Given the description of an element on the screen output the (x, y) to click on. 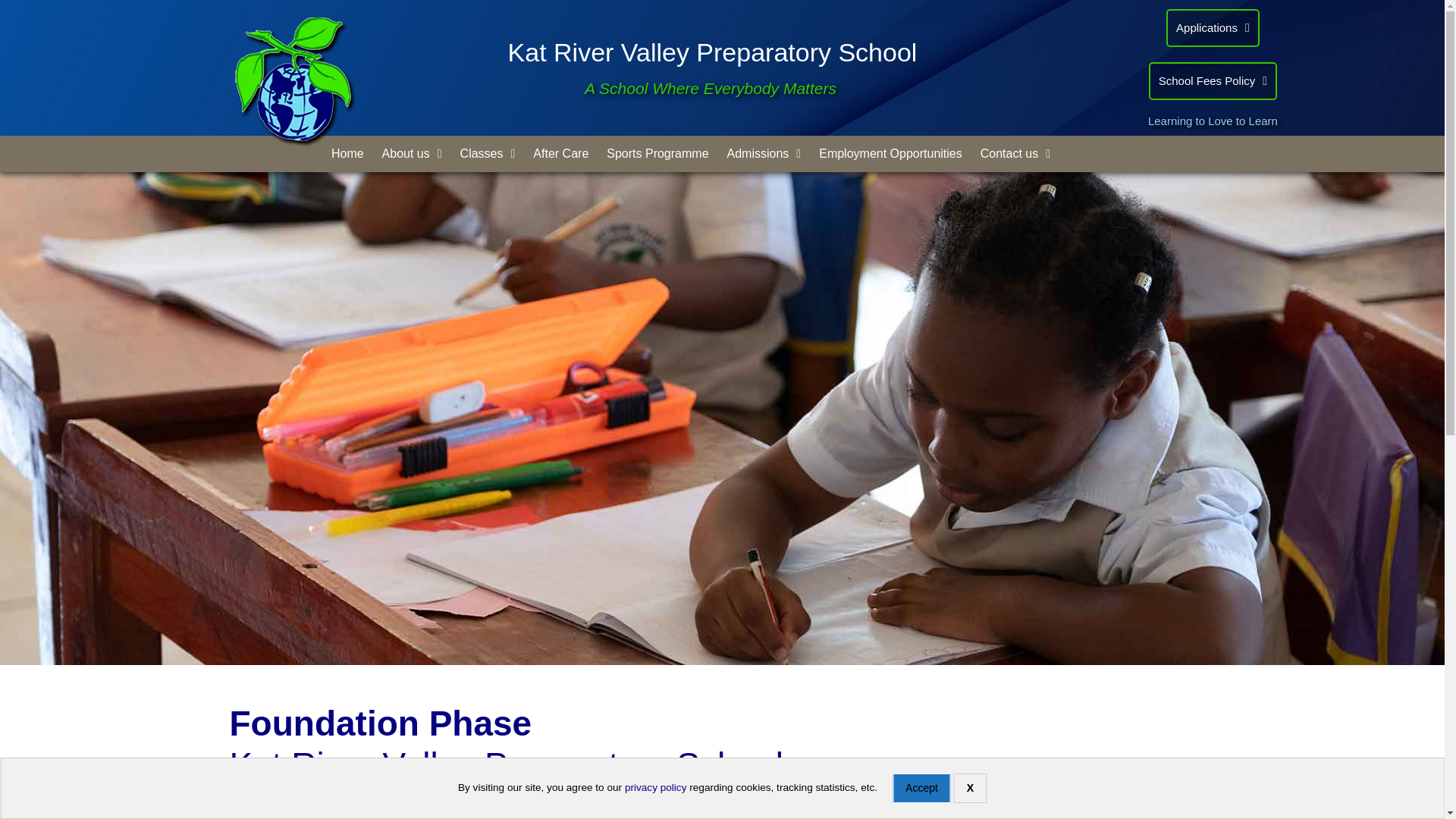
Accept (921, 788)
After Care (560, 153)
Admissions (763, 153)
Home (346, 153)
privacy policy (655, 787)
About us (411, 153)
Contact us (1015, 153)
Classes (487, 153)
Employment Opportunities (890, 153)
School Fees Policy (1209, 80)
